Given the description of an element on the screen output the (x, y) to click on. 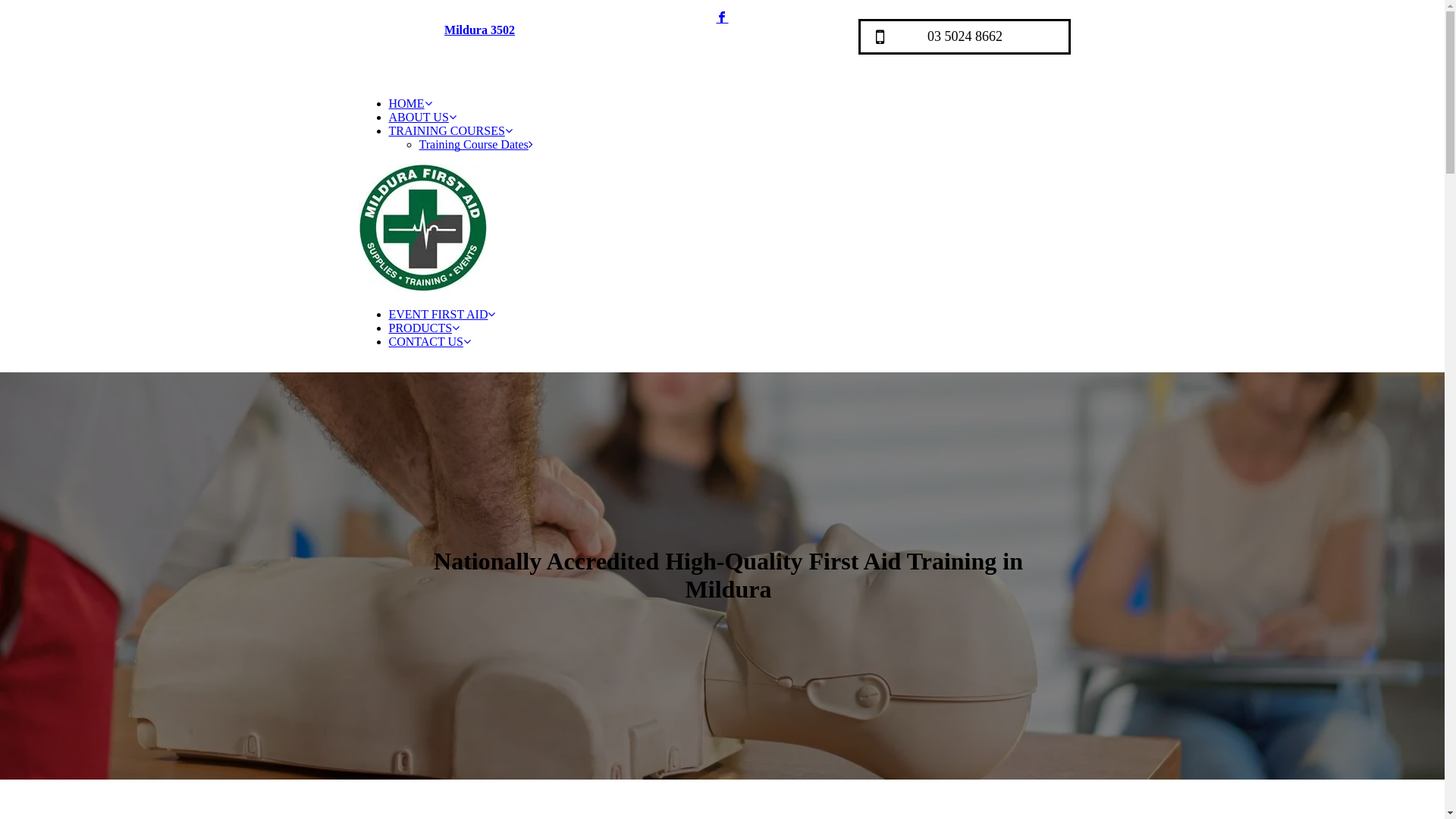
03 5024 8662 Element type: text (964, 36)
EVENT FIRST AID Element type: text (441, 313)
PRODUCTS Element type: text (423, 327)
ABOUT US Element type: text (421, 116)
HOME Element type: text (409, 103)
Mildura 3502 Element type: text (479, 29)
TRAINING COURSES Element type: text (449, 130)
CONTACT US Element type: text (429, 341)
Training Course Dates Element type: text (475, 144)
